Given the description of an element on the screen output the (x, y) to click on. 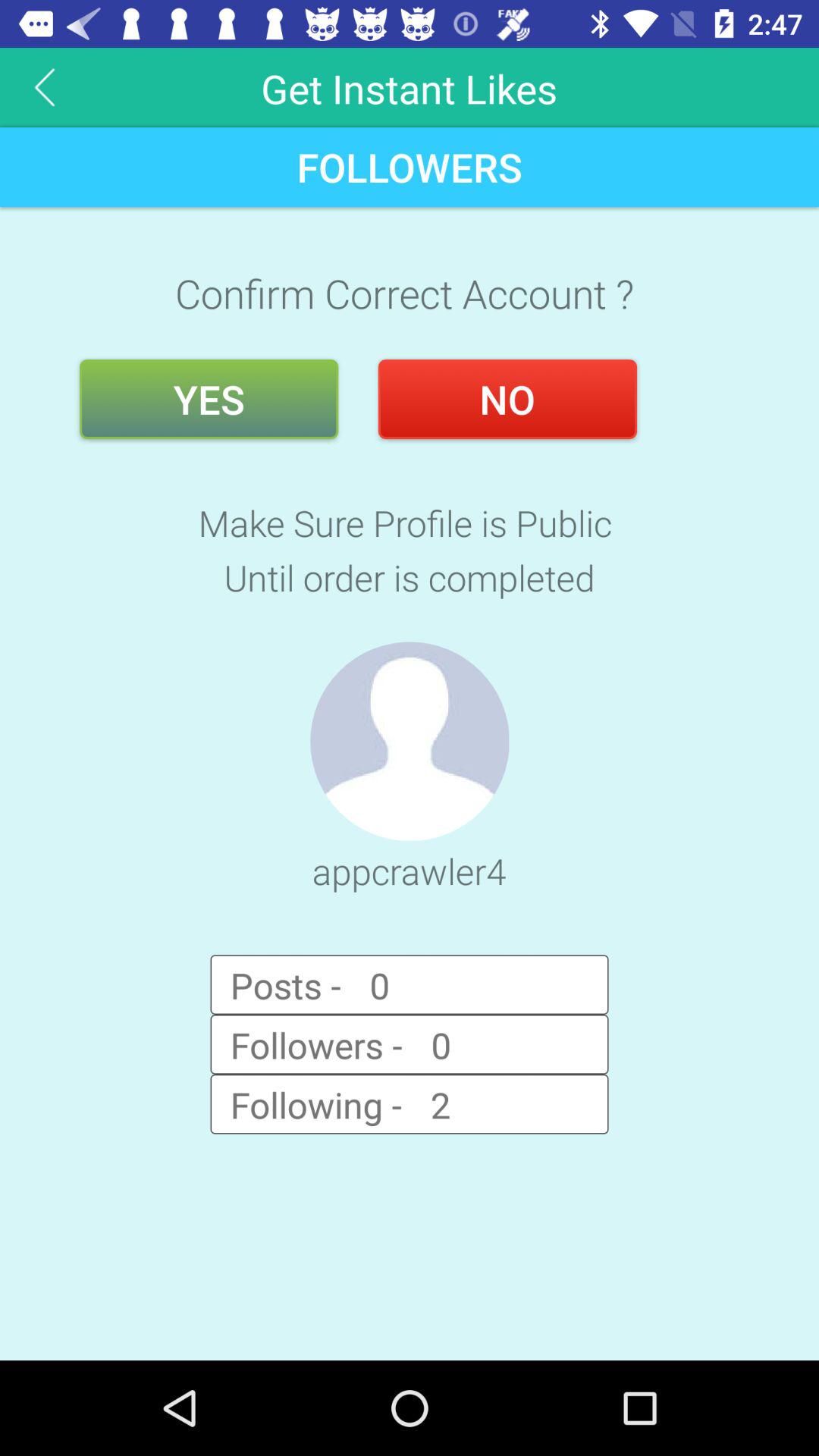
open app above the make sure profile item (208, 399)
